Given the description of an element on the screen output the (x, y) to click on. 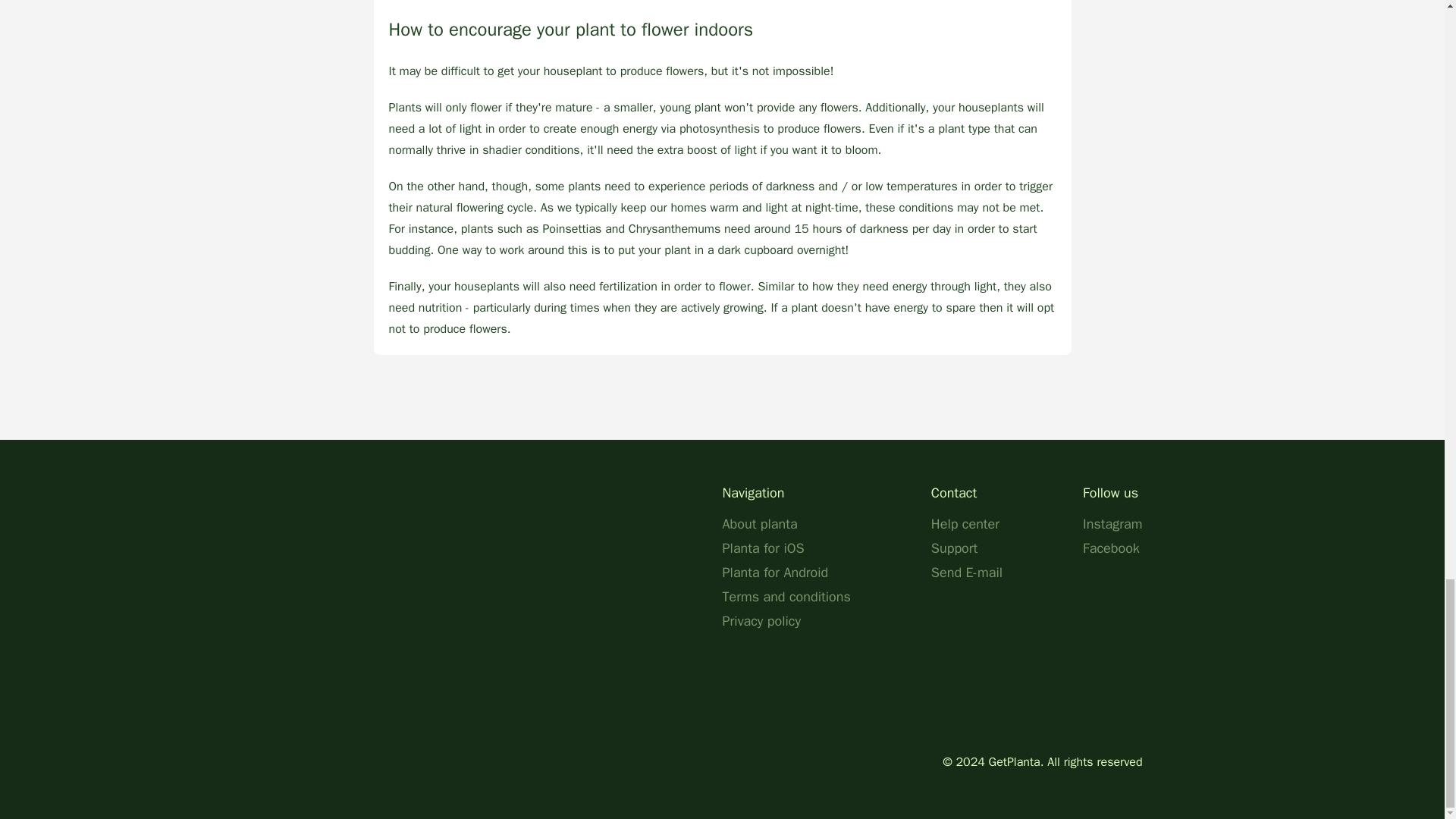
Planta for Android (775, 572)
About planta (759, 523)
Terms and conditions (786, 596)
Support (953, 547)
Privacy policy (761, 620)
Send E-mail (967, 572)
Facebook (1111, 547)
Help center (964, 523)
Instagram (1112, 523)
Planta for iOS (762, 547)
